Given the description of an element on the screen output the (x, y) to click on. 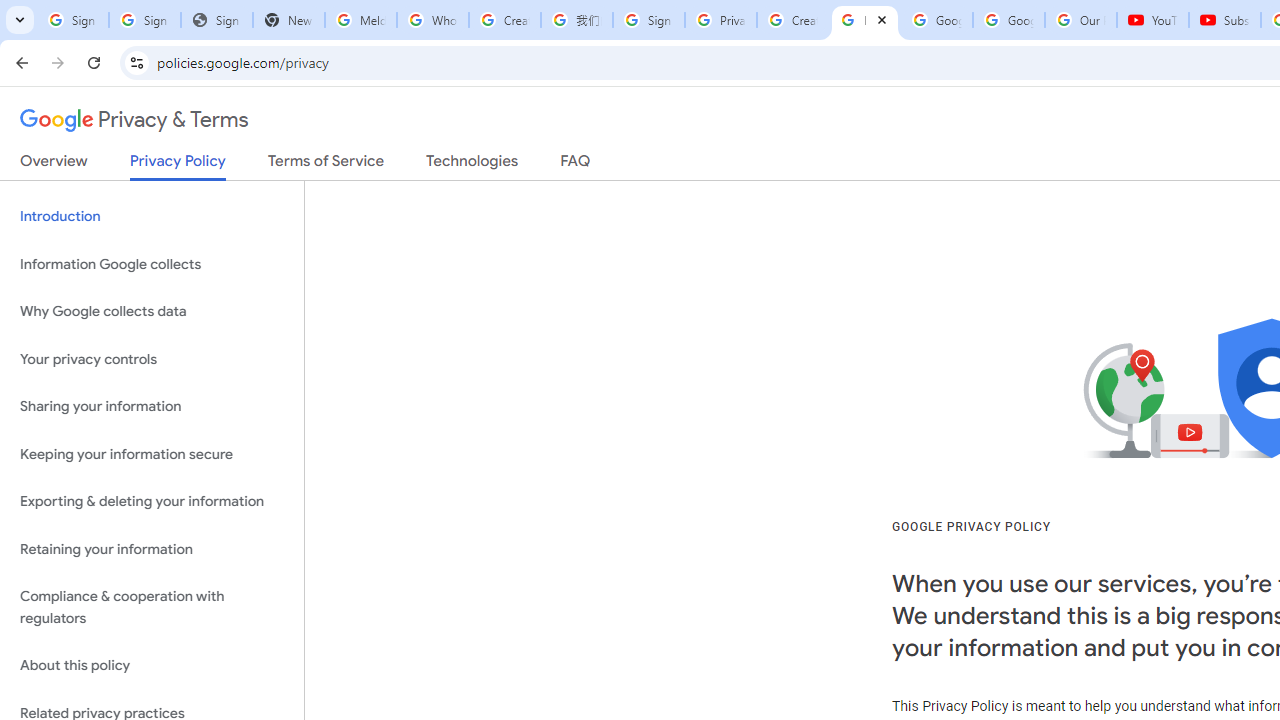
Sharing your information (152, 407)
Sign in - Google Accounts (144, 20)
New Tab (289, 20)
Create your Google Account (504, 20)
Google Account (1008, 20)
Who is my administrator? - Google Account Help (432, 20)
Why Google collects data (152, 312)
Create your Google Account (792, 20)
